Given the description of an element on the screen output the (x, y) to click on. 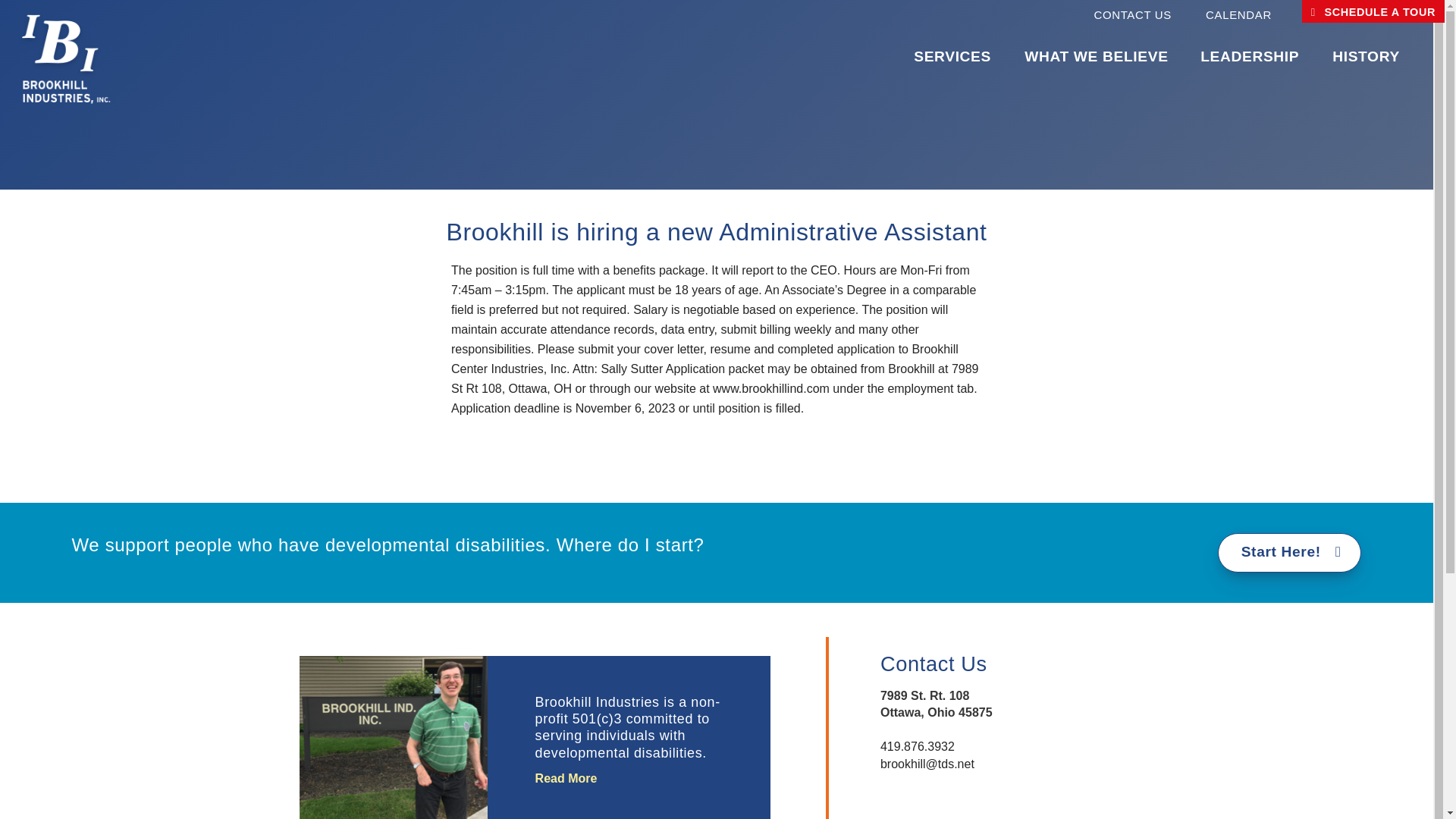
LEADERSHIP (1249, 56)
CONTACT US (1147, 15)
CALENDAR (1253, 15)
SERVICES (952, 56)
Start Here! (1289, 552)
HISTORY (1365, 56)
WHAT WE BELIEVE (1096, 56)
